Given the description of an element on the screen output the (x, y) to click on. 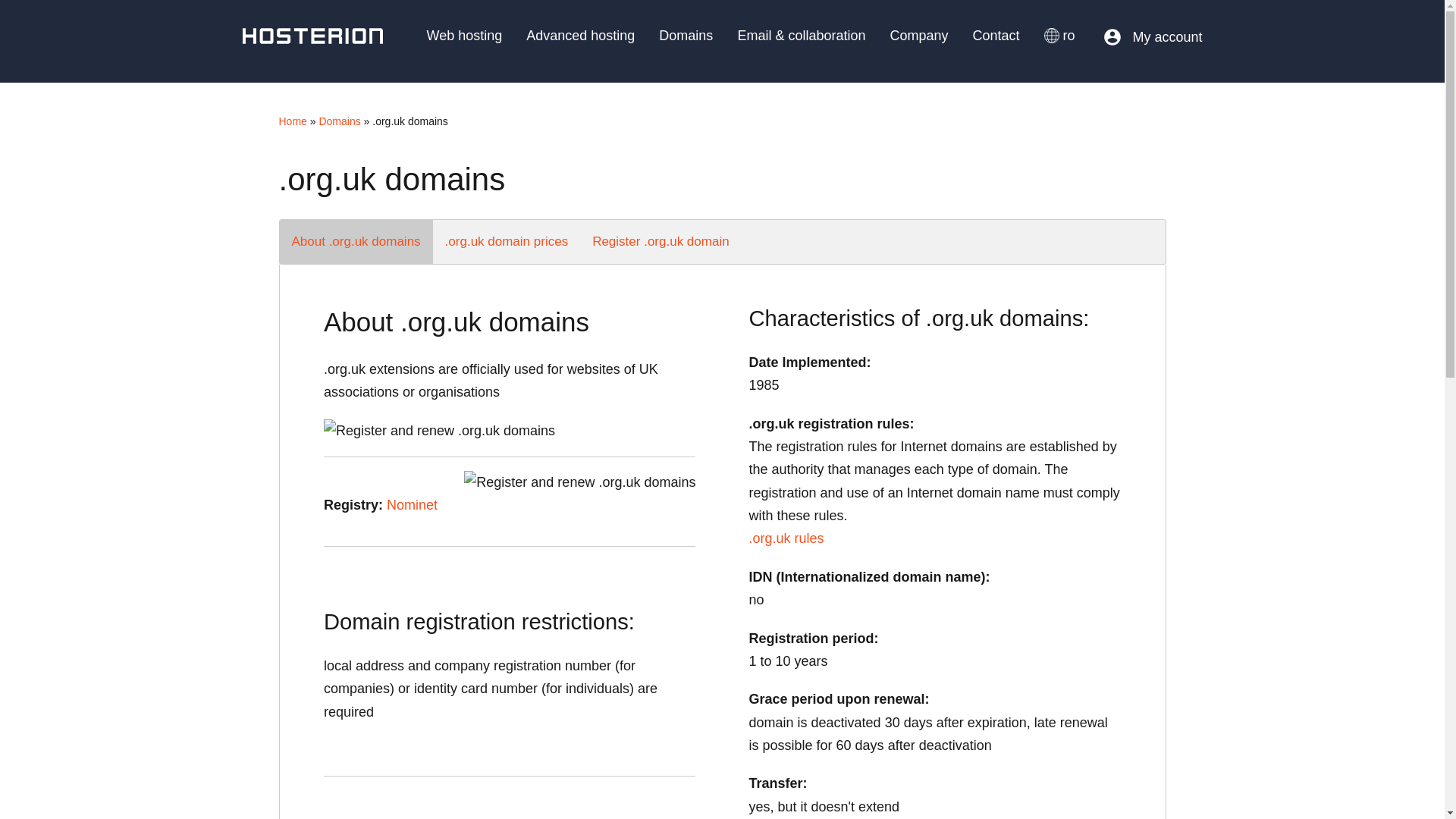
Email and collaboration solutions (801, 27)
Company (918, 27)
Hosterion - web hosting (312, 35)
Domains (338, 121)
ro (1059, 27)
.org.uk domain prices (506, 241)
Contact (996, 27)
.org.uk rules (786, 538)
My account (1152, 36)
Nominet (412, 504)
